Given the description of an element on the screen output the (x, y) to click on. 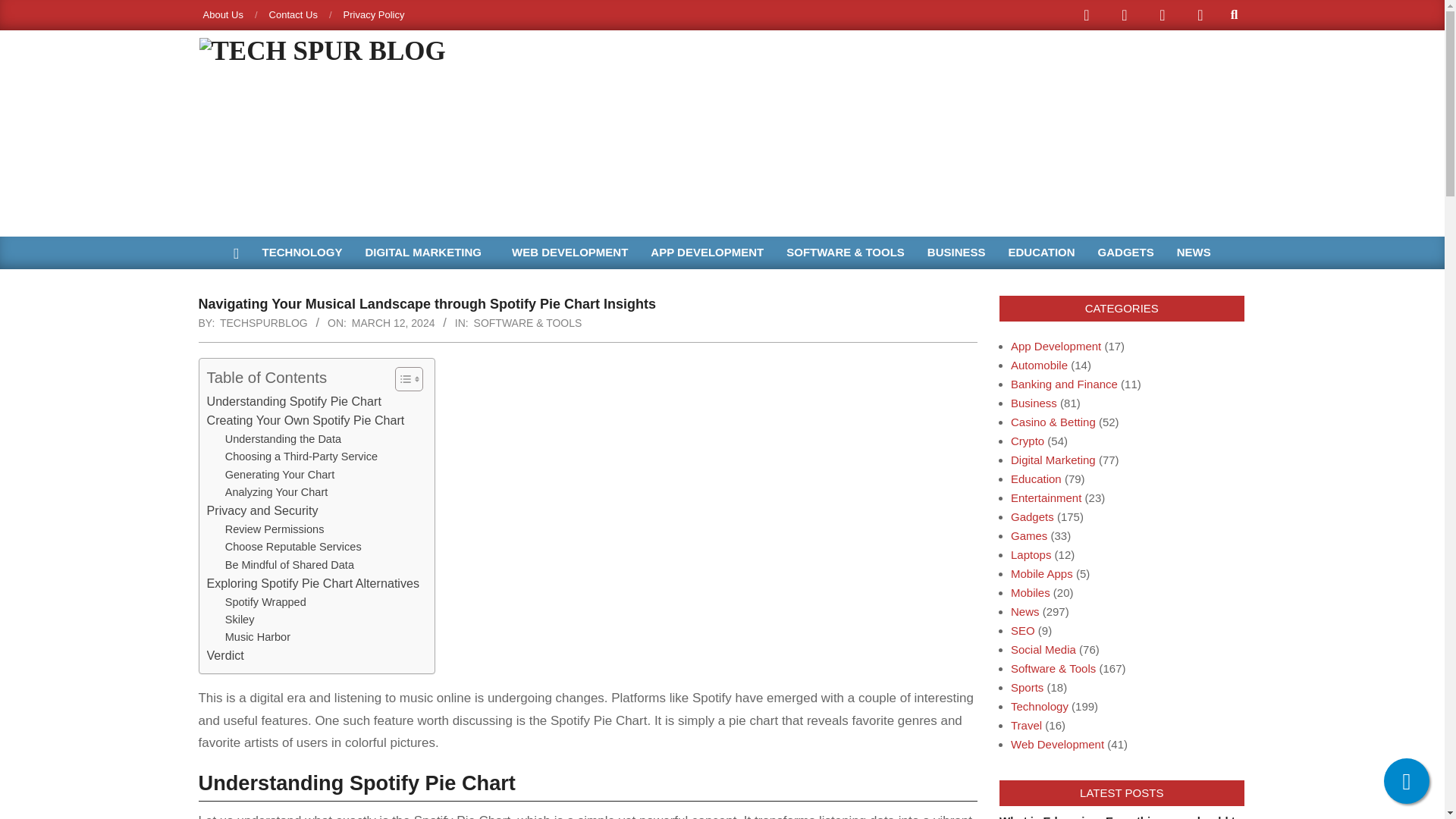
Privacy and Security (261, 510)
Be Mindful of Shared Data (289, 565)
Choose Reputable Services (293, 547)
NEWS (1194, 252)
Creating Your Own Spotify Pie Chart (305, 420)
Analyzing Your Chart (277, 492)
Music Harbor (257, 637)
Generating Your Chart (279, 475)
Spotify Wrapped (265, 601)
Exploring Spotify Pie Chart Alternatives (312, 583)
